Given the description of an element on the screen output the (x, y) to click on. 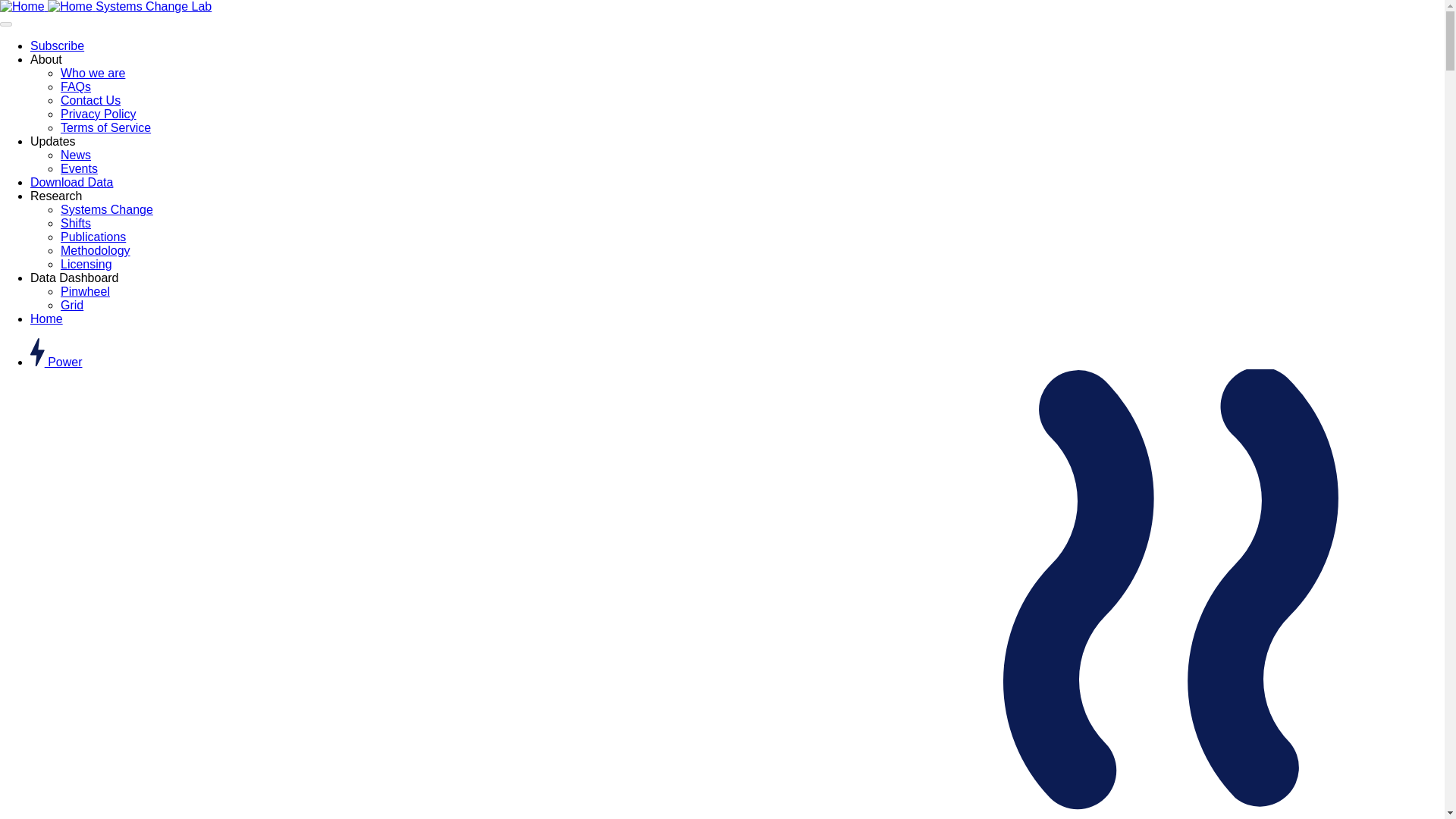
Who we are (93, 72)
Pinwheel (85, 291)
Methodology (96, 250)
FAQs (75, 86)
Systems Change (106, 209)
Home (105, 6)
Publications (93, 236)
Data Dashboard (74, 277)
Download Data (71, 182)
Home (46, 318)
